Given the description of an element on the screen output the (x, y) to click on. 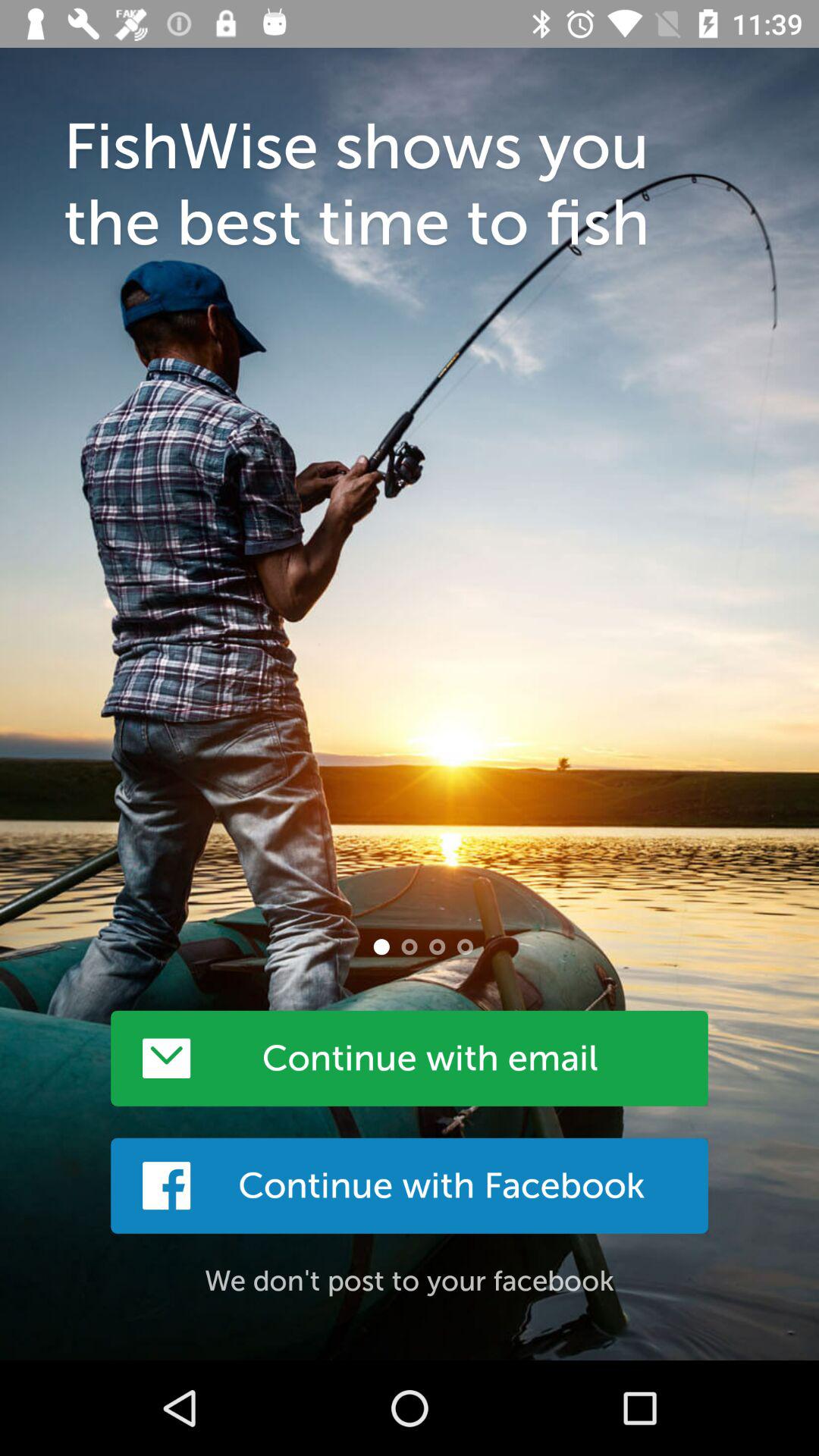
change slide (409, 946)
